Given the description of an element on the screen output the (x, y) to click on. 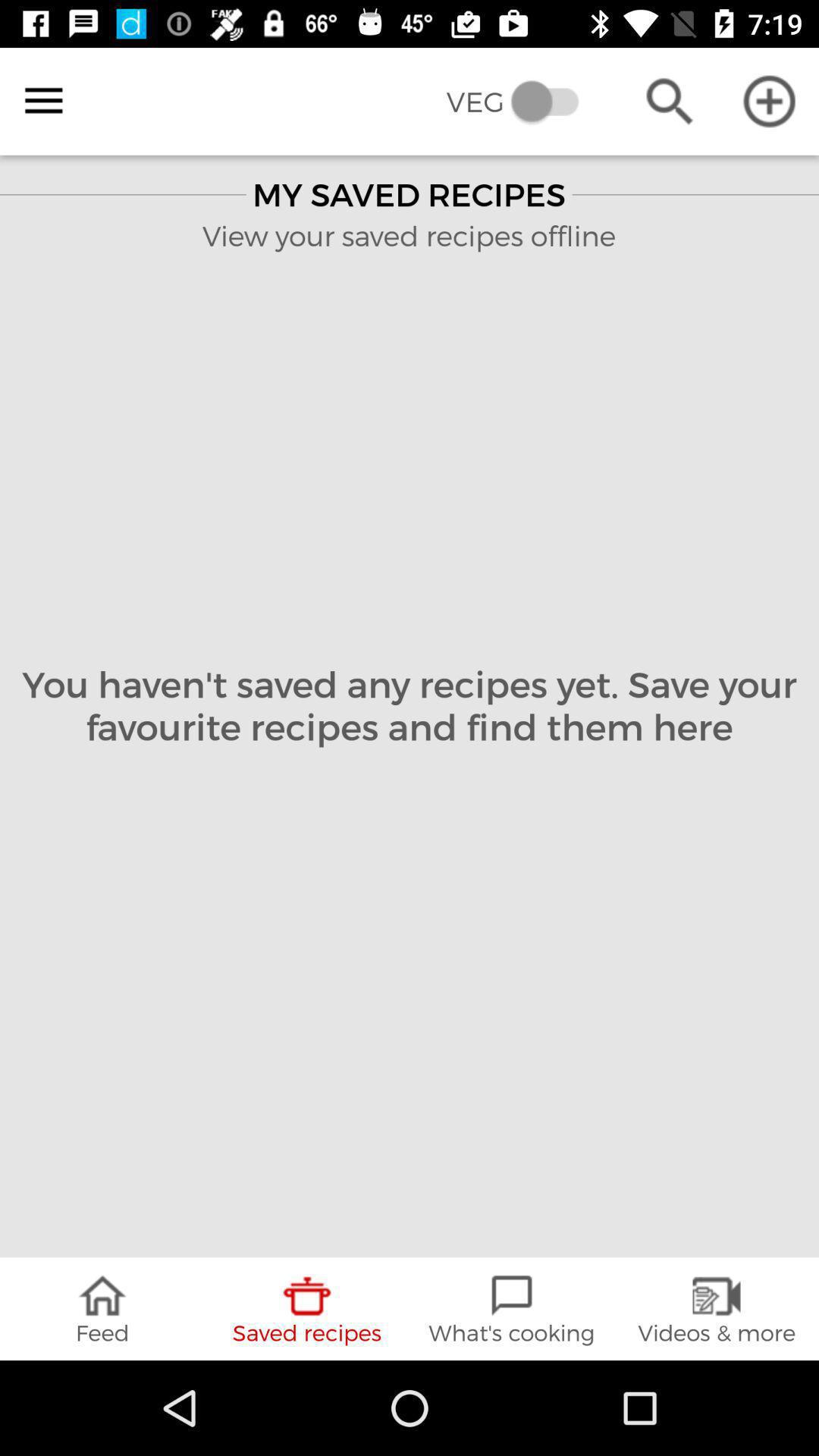
launch icon next to videos & more icon (511, 1308)
